Given the description of an element on the screen output the (x, y) to click on. 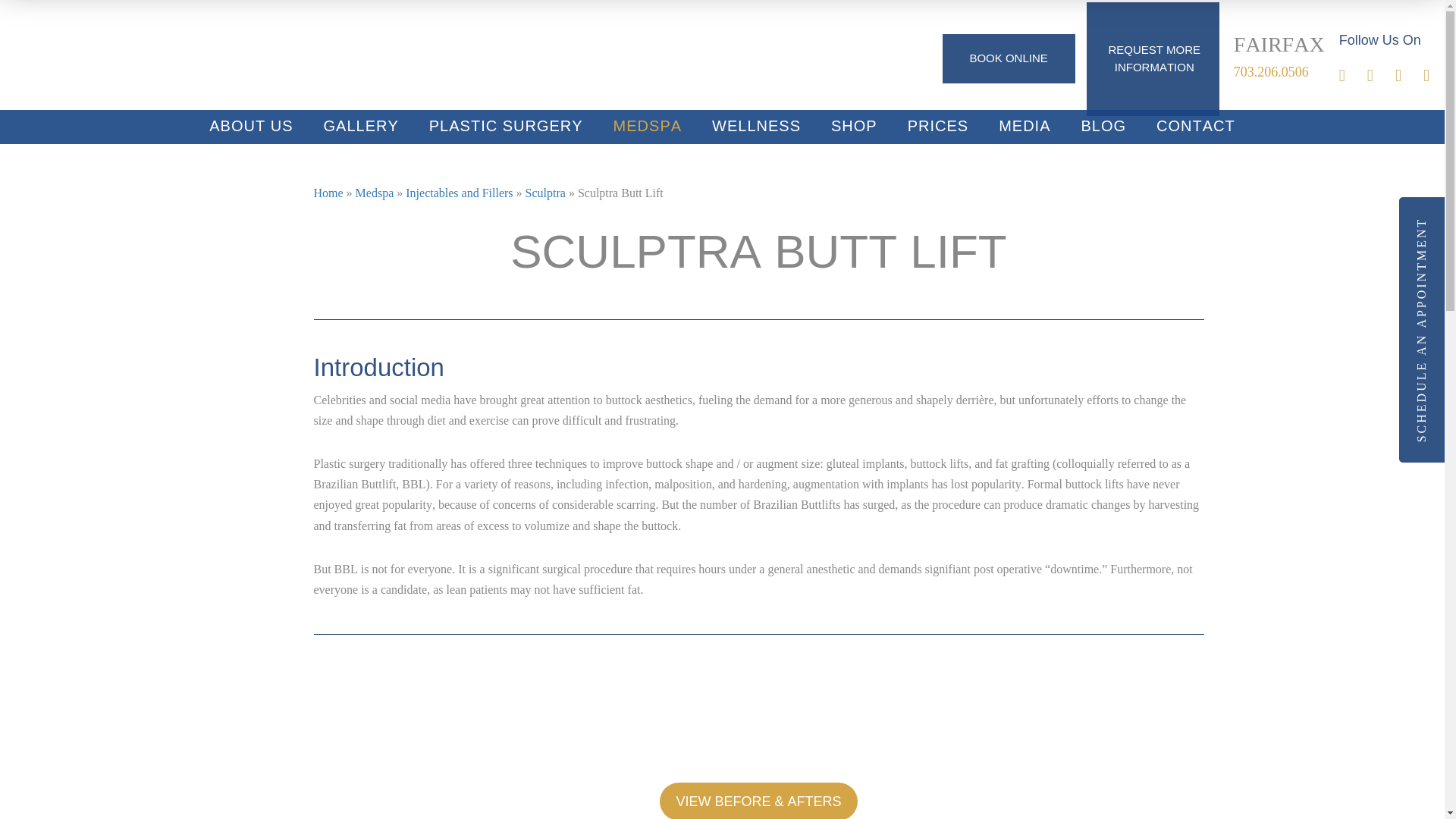
facebook (1353, 76)
youtube (1408, 76)
instagram (1380, 76)
Bitar Cosmetic Surgery Institute (128, 56)
